Given the description of an element on the screen output the (x, y) to click on. 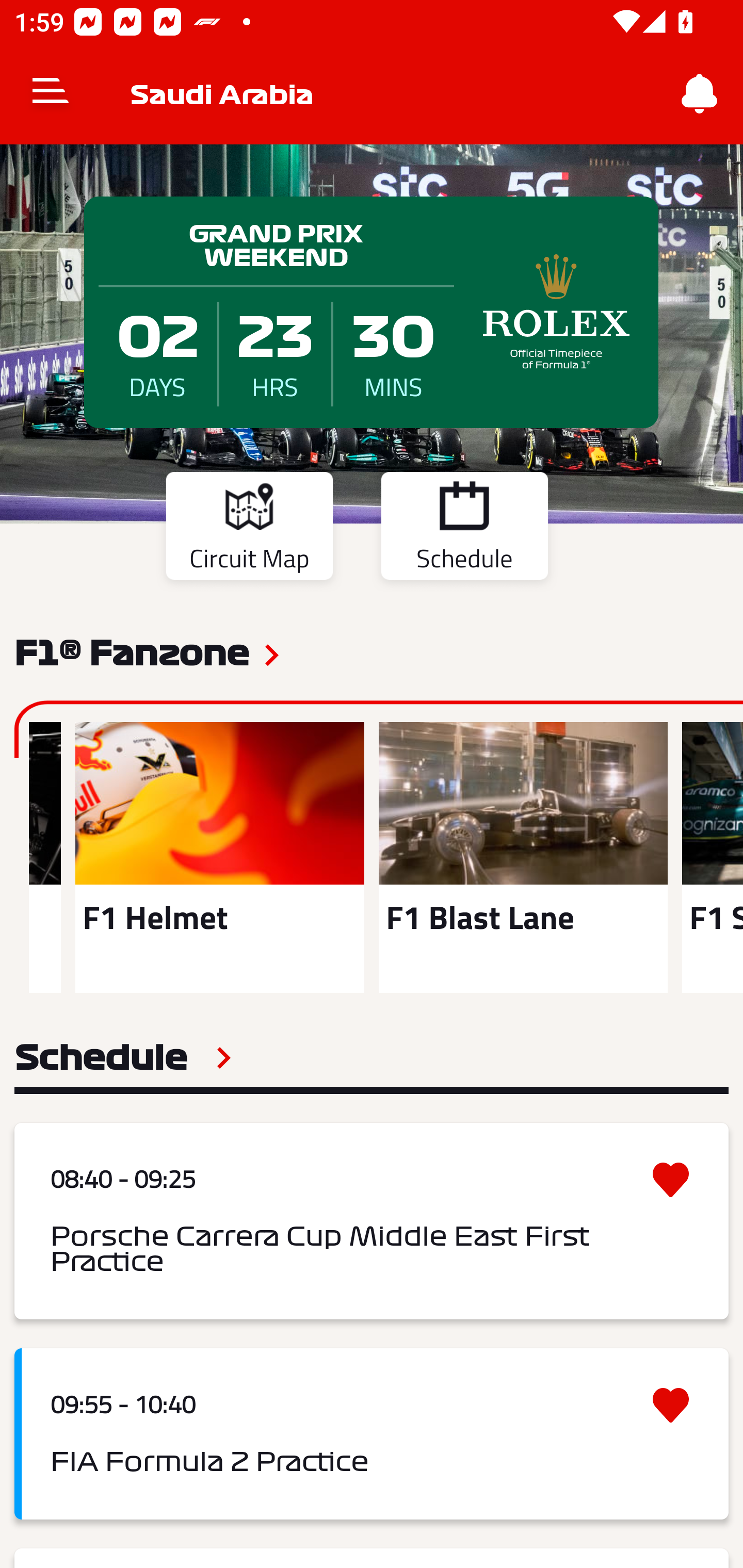
Navigate up (50, 93)
Notifications (699, 93)
Circuit Map (249, 528)
Schedule (464, 528)
F1® Fanzone (131, 651)
F1 Helmet (219, 857)
F1 Blast Lane (522, 857)
Schedule (122, 1057)
09:55 - 10:40 FIA Formula 2 Practice (371, 1433)
